Given the description of an element on the screen output the (x, y) to click on. 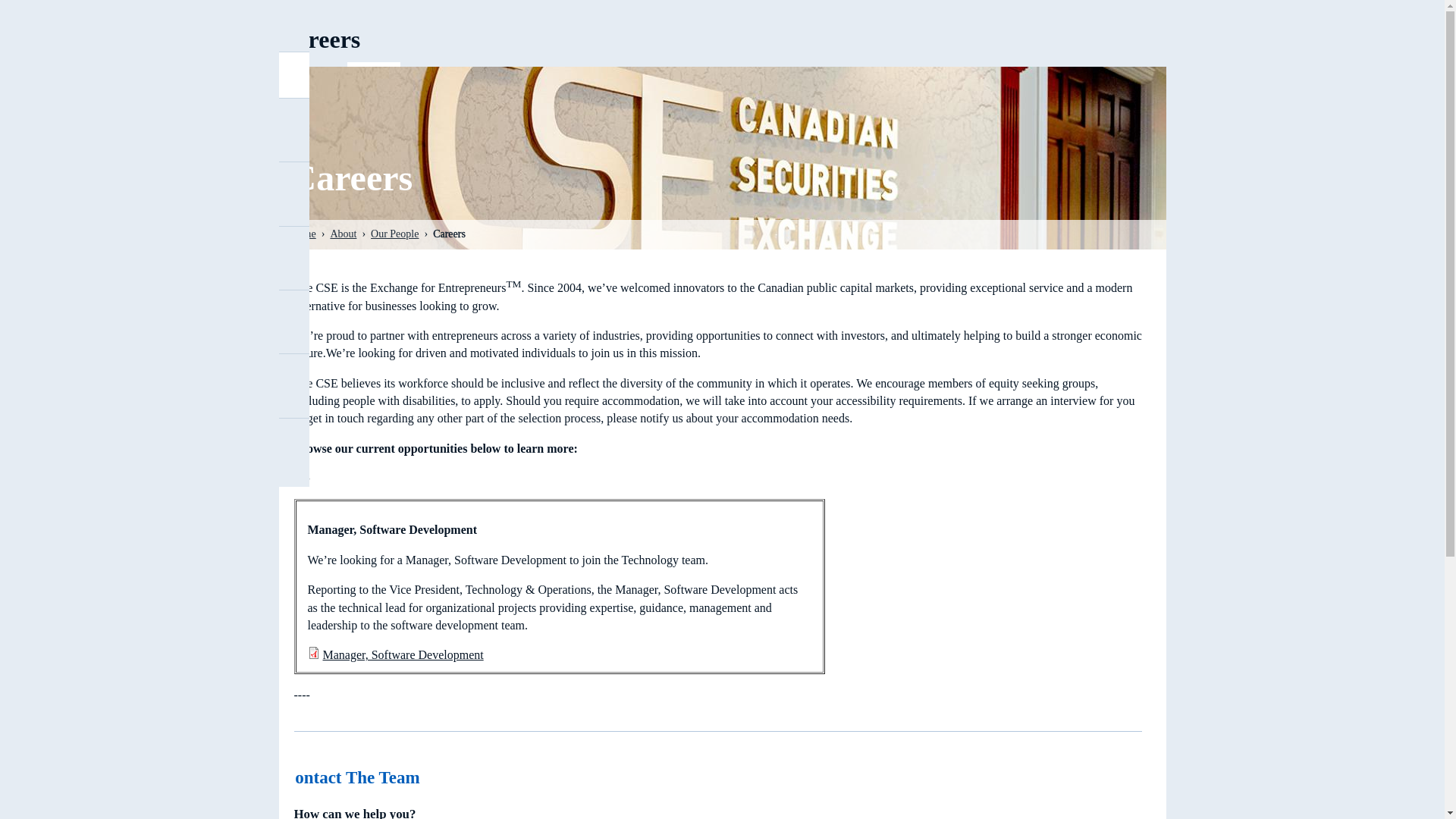
Trading (220, 203)
Home (220, 28)
About (220, 75)
Listings (220, 139)
